Given the description of an element on the screen output the (x, y) to click on. 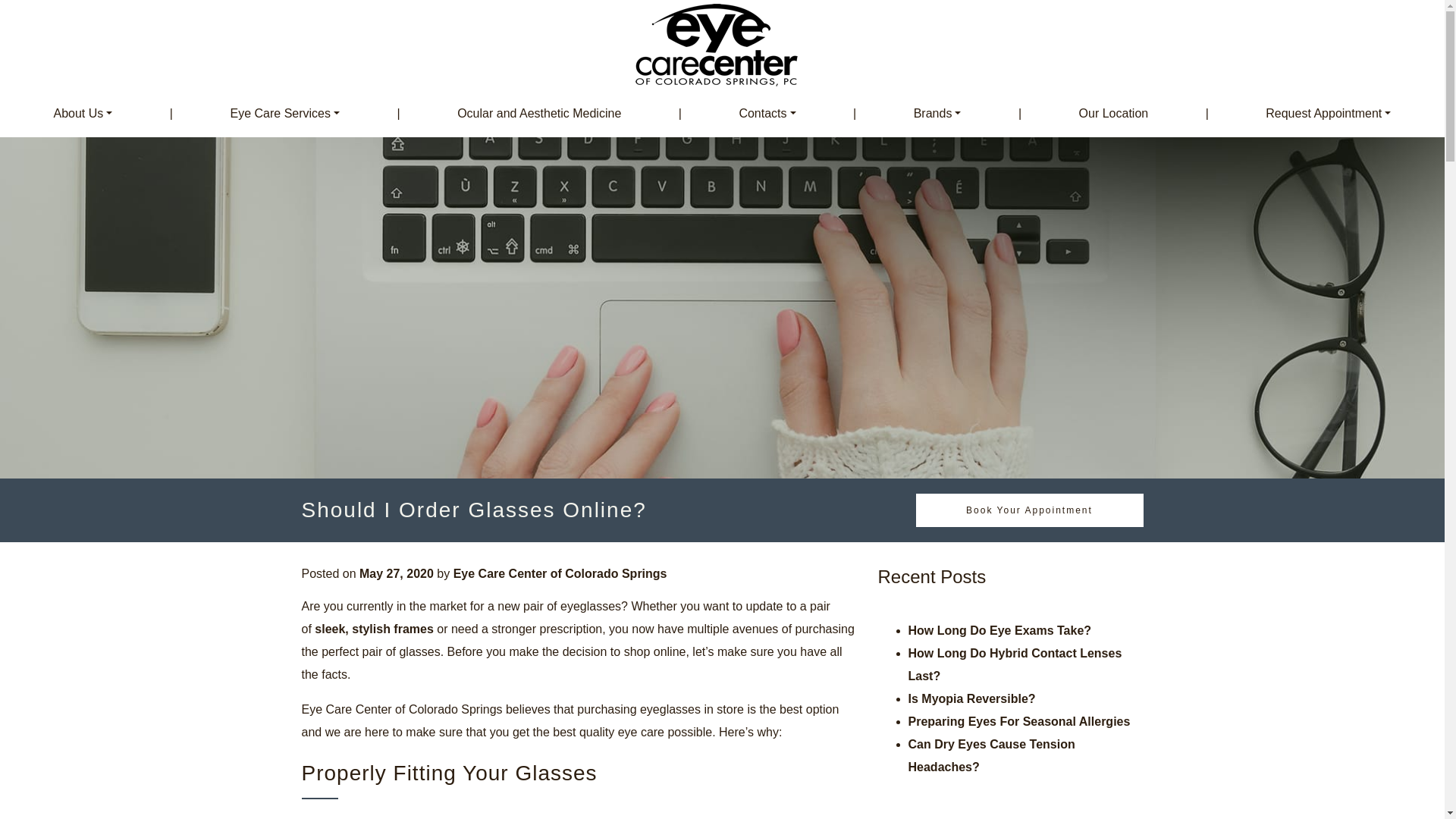
Request Appointment (1327, 113)
Book Your Appointment (1028, 509)
Eye Care Center of Colorado Springs (559, 573)
Our Location (1113, 113)
Contacts (767, 113)
About Us (81, 113)
Eye Care Services (285, 113)
May 27, 2020 (396, 573)
Brands (937, 113)
About Us (81, 113)
